Given the description of an element on the screen output the (x, y) to click on. 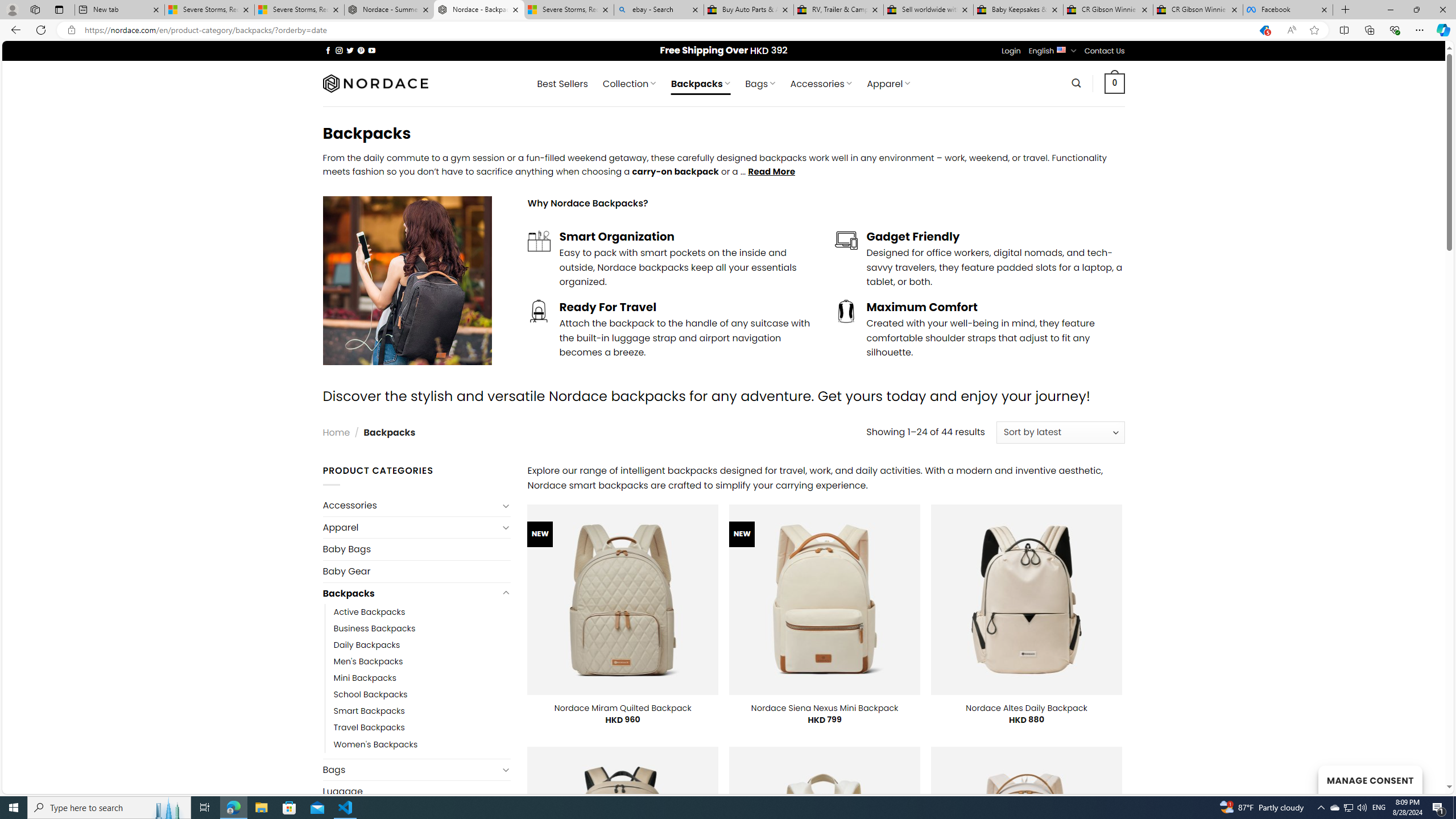
MANAGE CONSENT (1369, 779)
Travel Backpacks (422, 727)
Active Backpacks (369, 612)
Apparel (410, 527)
Sell worldwide with eBay (928, 9)
Bags (410, 769)
Home (335, 431)
Read More (771, 171)
Business Backpacks (374, 628)
Follow on Twitter (349, 49)
